Given the description of an element on the screen output the (x, y) to click on. 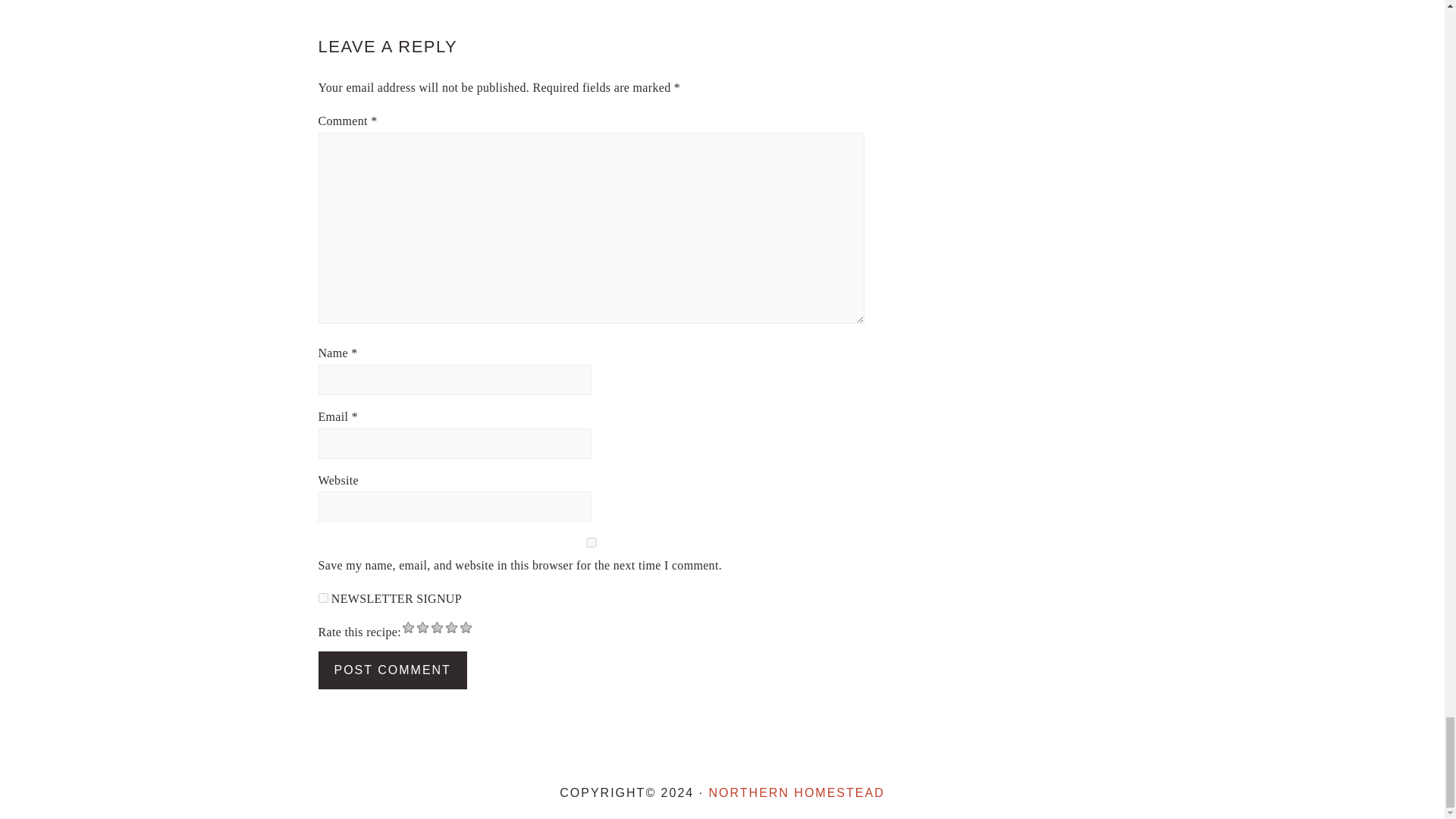
1 (323, 597)
yes (591, 542)
Post Comment (392, 670)
